Given the description of an element on the screen output the (x, y) to click on. 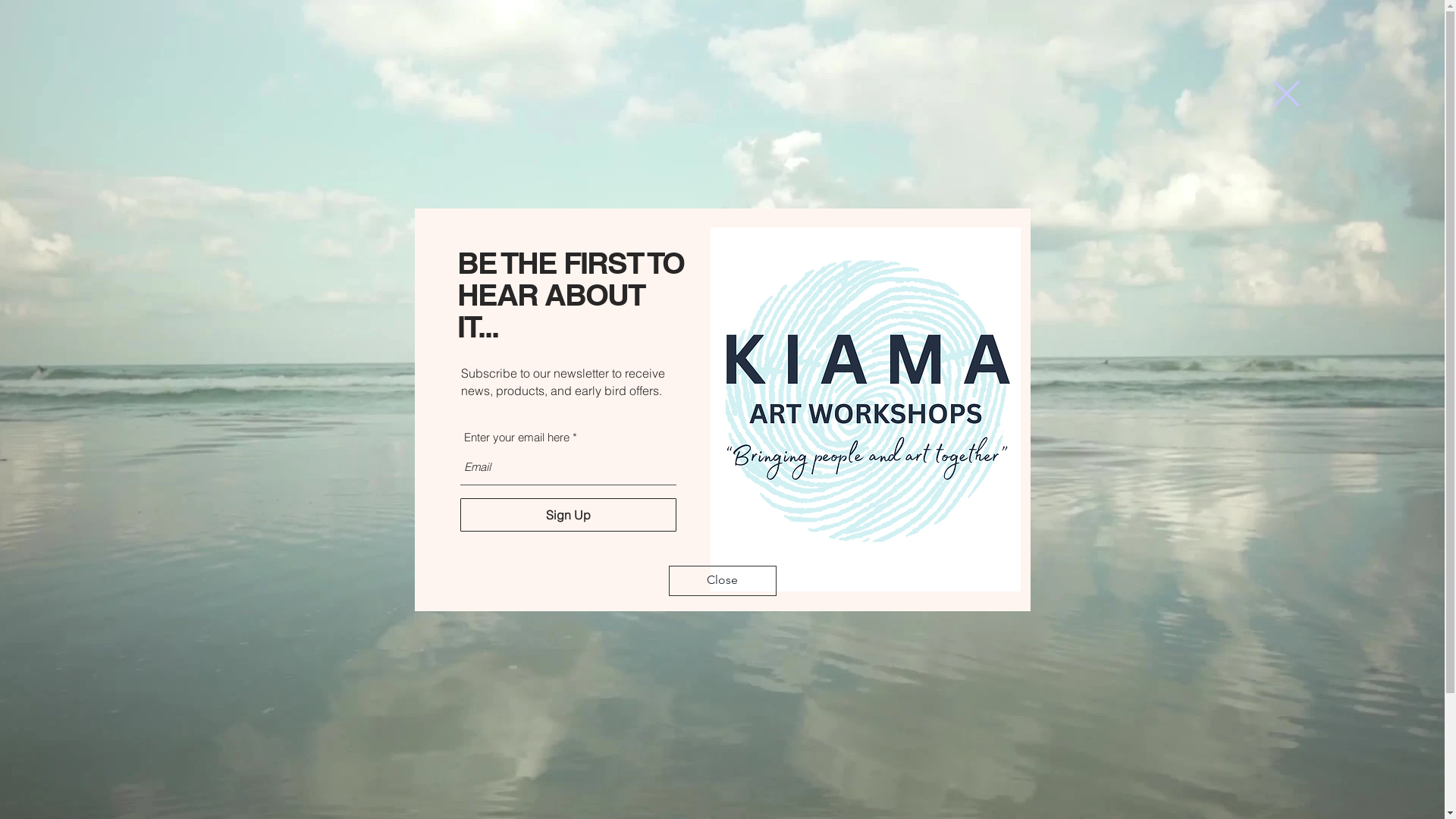
0 Element type: text (1042, 97)
Contact Element type: text (1038, 57)
Artists Element type: text (657, 174)
Sign Up Element type: text (567, 514)
Workshops Element type: text (588, 174)
Back to site Element type: hover (1285, 92)
Contact Element type: text (823, 174)
Home Element type: text (516, 174)
Blog Element type: text (767, 174)
About Element type: text (713, 174)
